Given the description of an element on the screen output the (x, y) to click on. 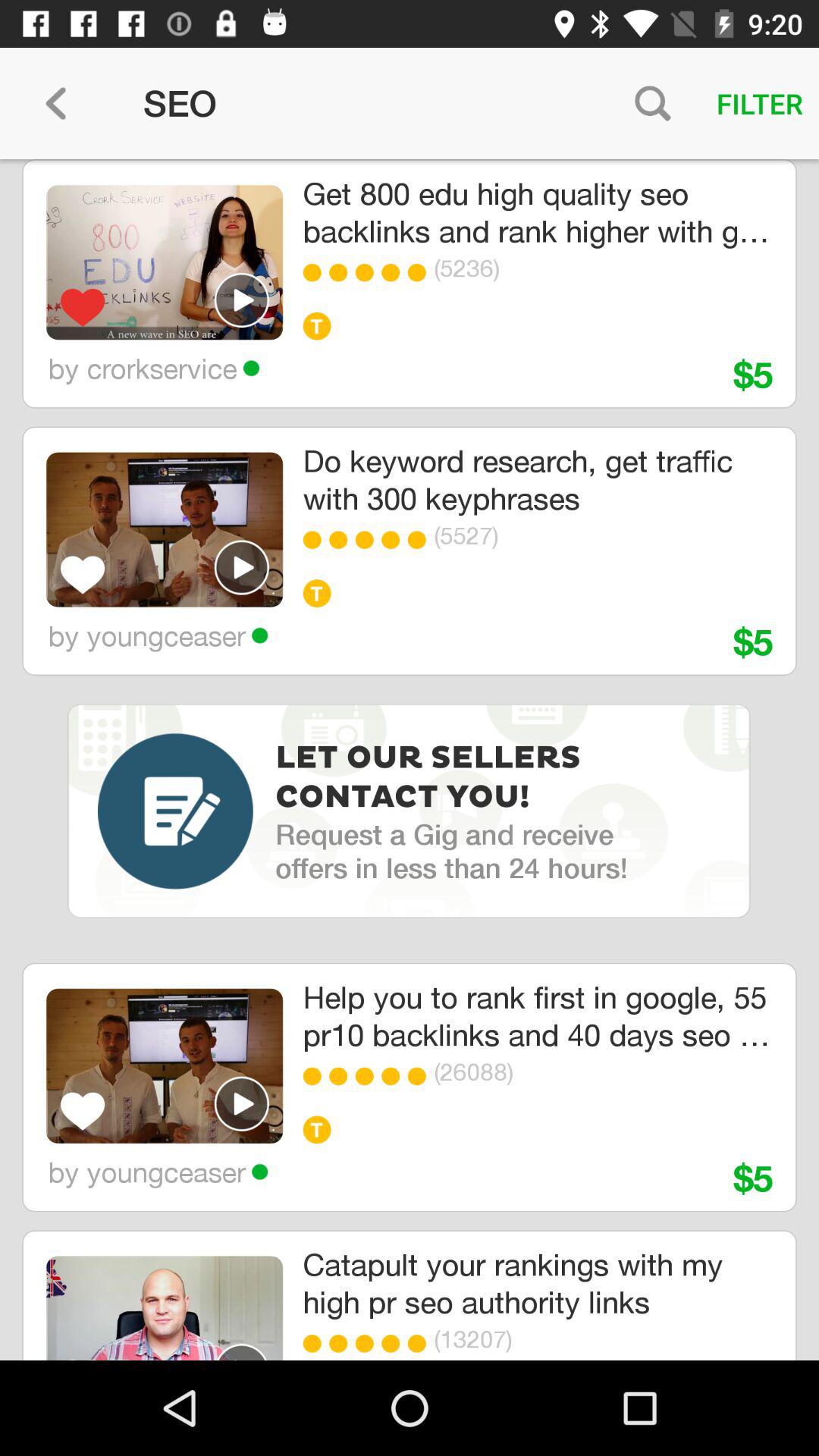
click on the icon which is left to the let our sellers contact you (175, 810)
select filter (760, 103)
select the fourth thumbnail (164, 1307)
click the video icon in the second block (242, 566)
click on play icon in the third thumbnail (242, 1103)
